Given the description of an element on the screen output the (x, y) to click on. 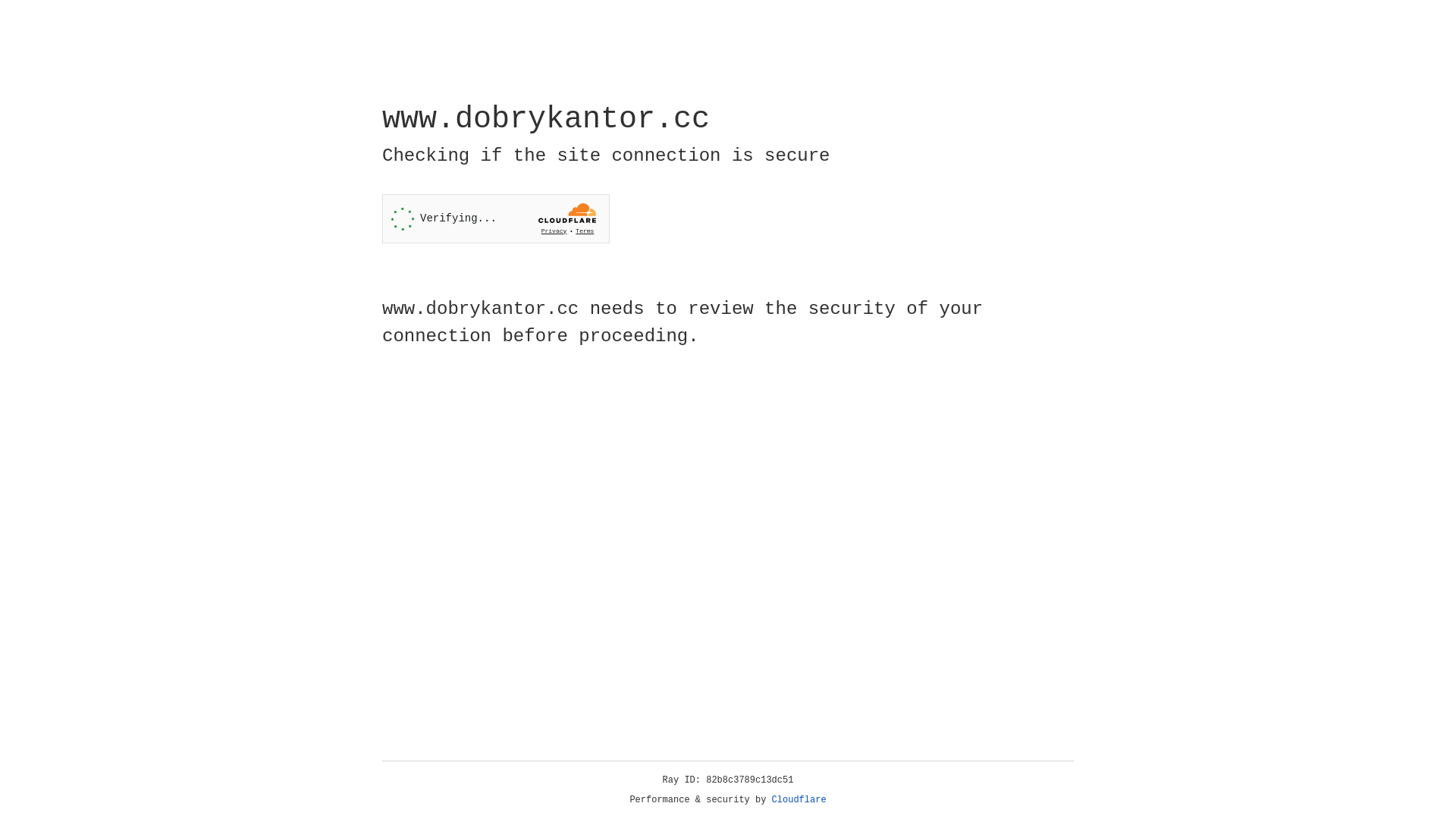
Widget containing a Cloudflare security challenge Element type: hover (495, 218)
Cloudflare Element type: text (798, 799)
